Given the description of an element on the screen output the (x, y) to click on. 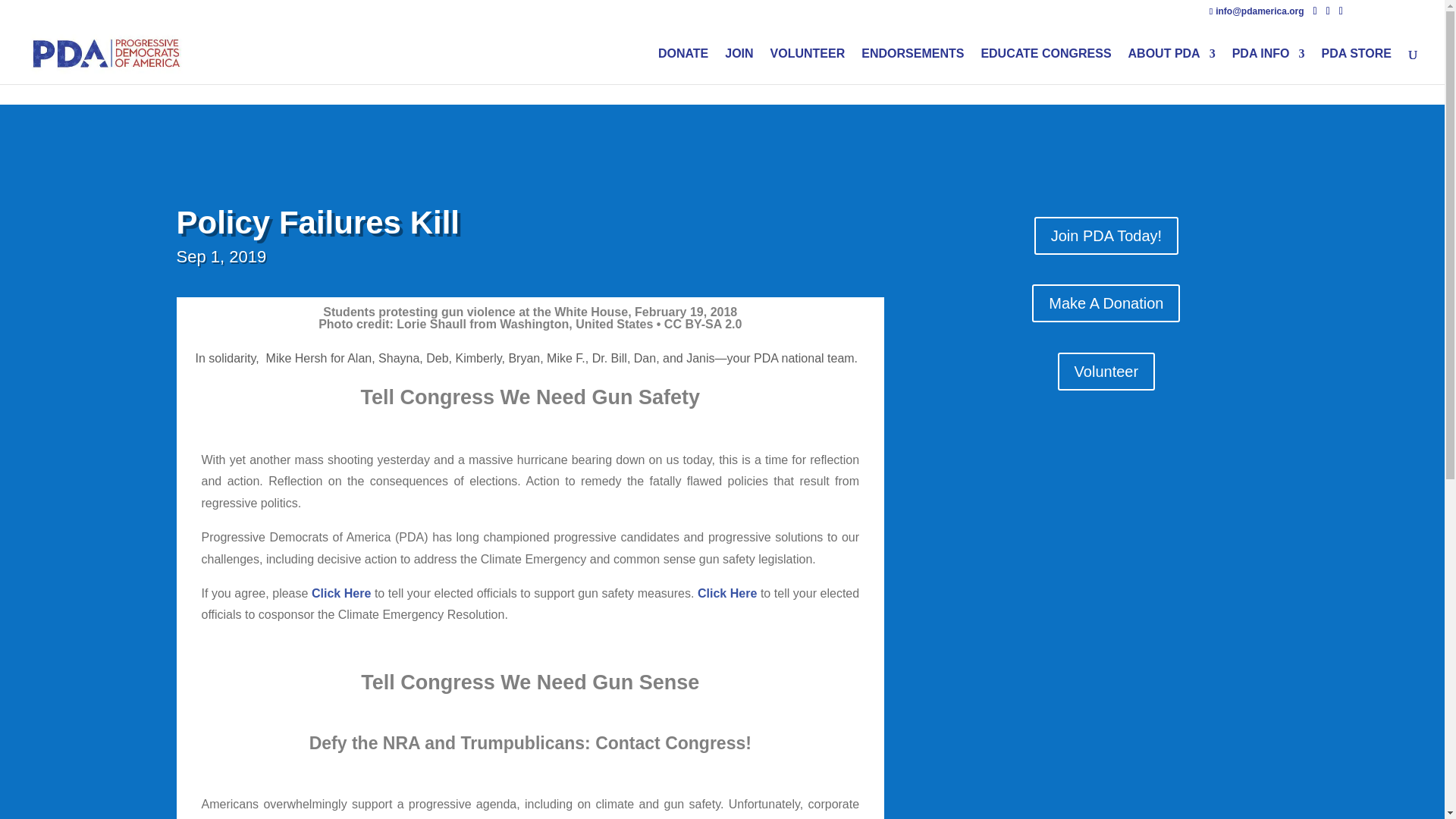
PDA INFO (1267, 66)
DONATE (682, 66)
VOLUNTEER (807, 66)
Mastodon (26, 10)
ENDORSEMENTS (912, 66)
EDUCATE CONGRESS (1044, 66)
ABOUT PDA (1171, 66)
